Given the description of an element on the screen output the (x, y) to click on. 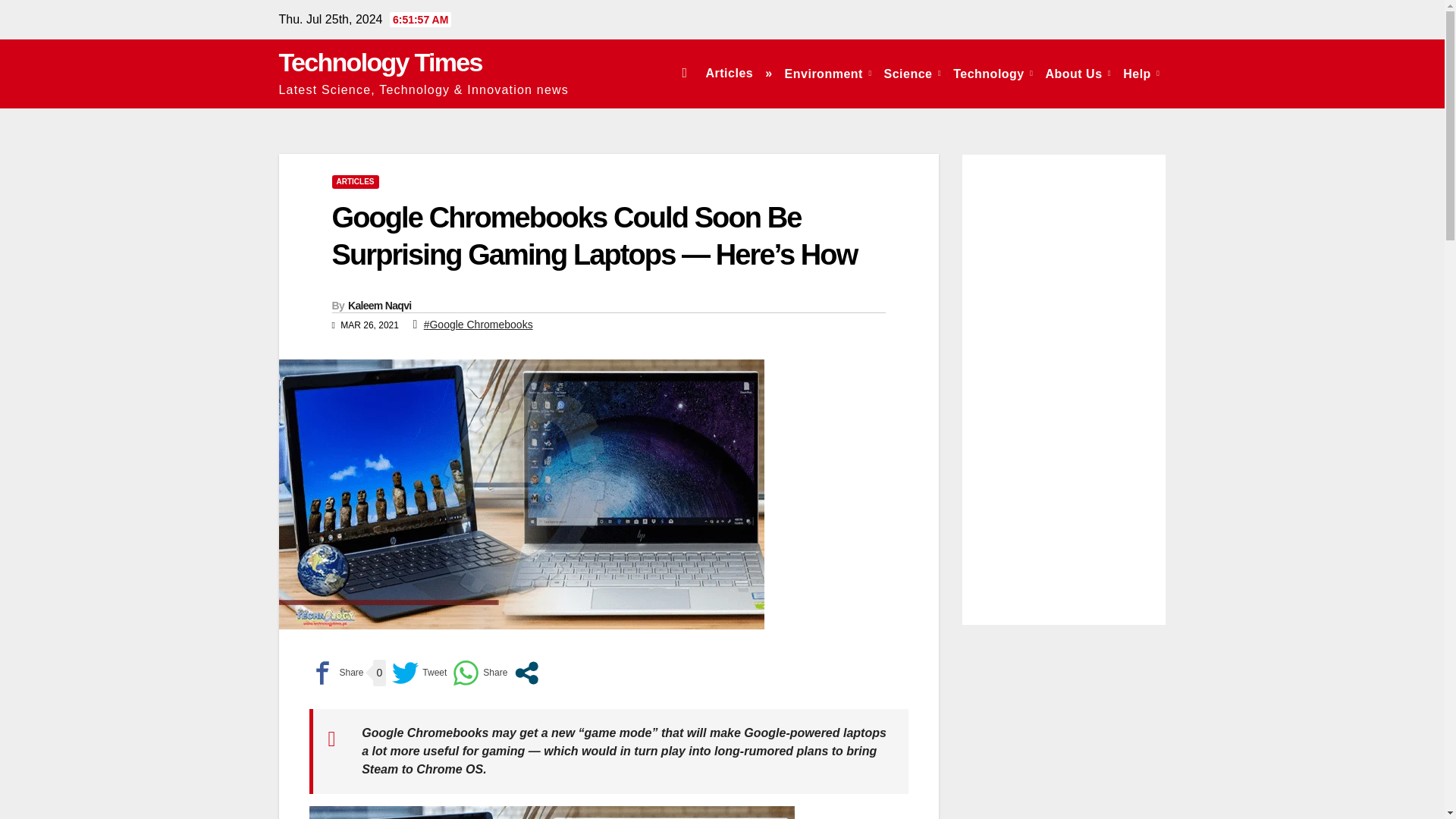
Environment (827, 73)
Technology Times (380, 61)
About Us (1077, 73)
Science (912, 73)
Technology (993, 73)
Science (912, 73)
Environment (827, 73)
Technology (993, 73)
